Given the description of an element on the screen output the (x, y) to click on. 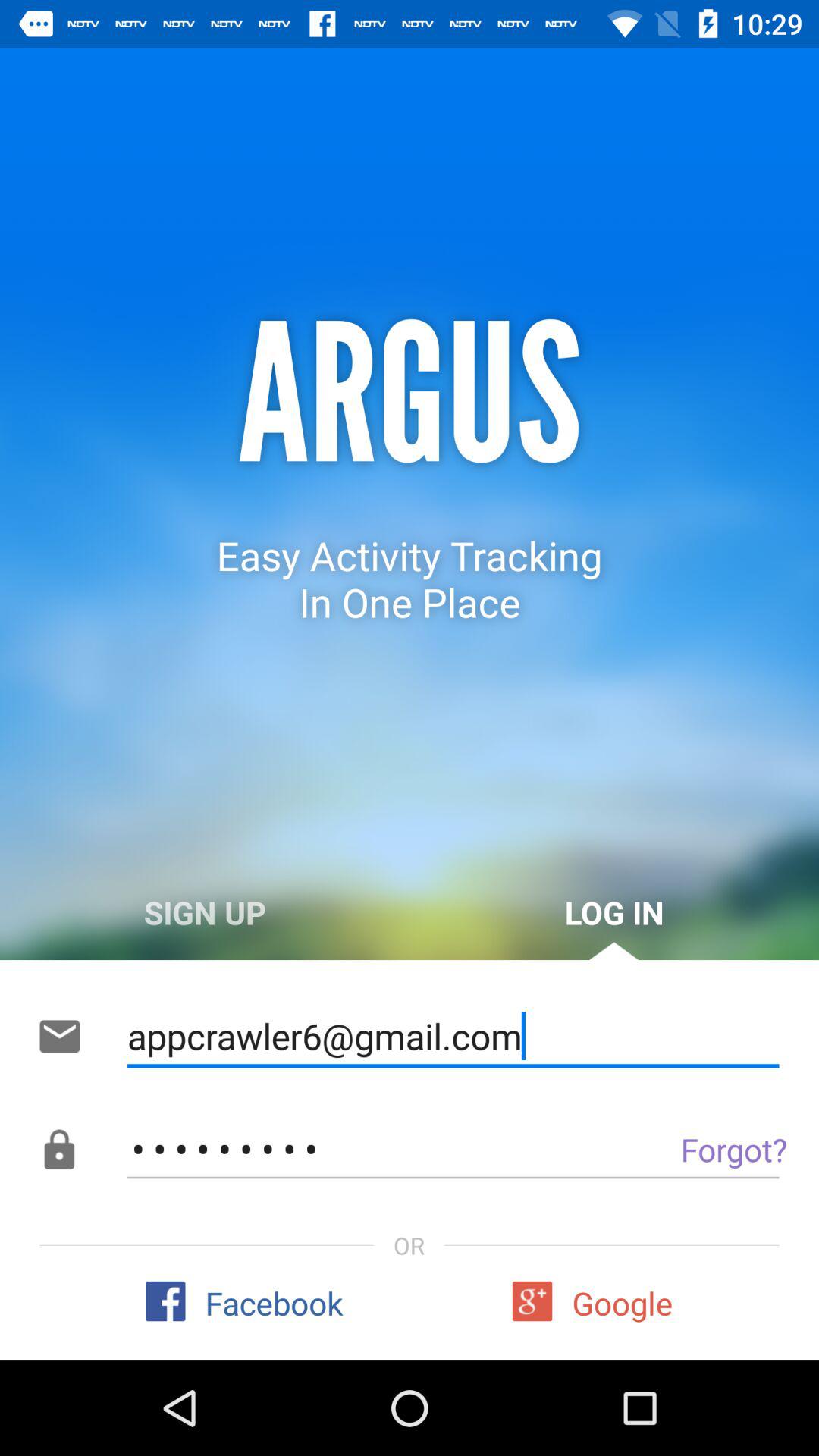
open appcrawler6@gmail.com icon (453, 1036)
